Given the description of an element on the screen output the (x, y) to click on. 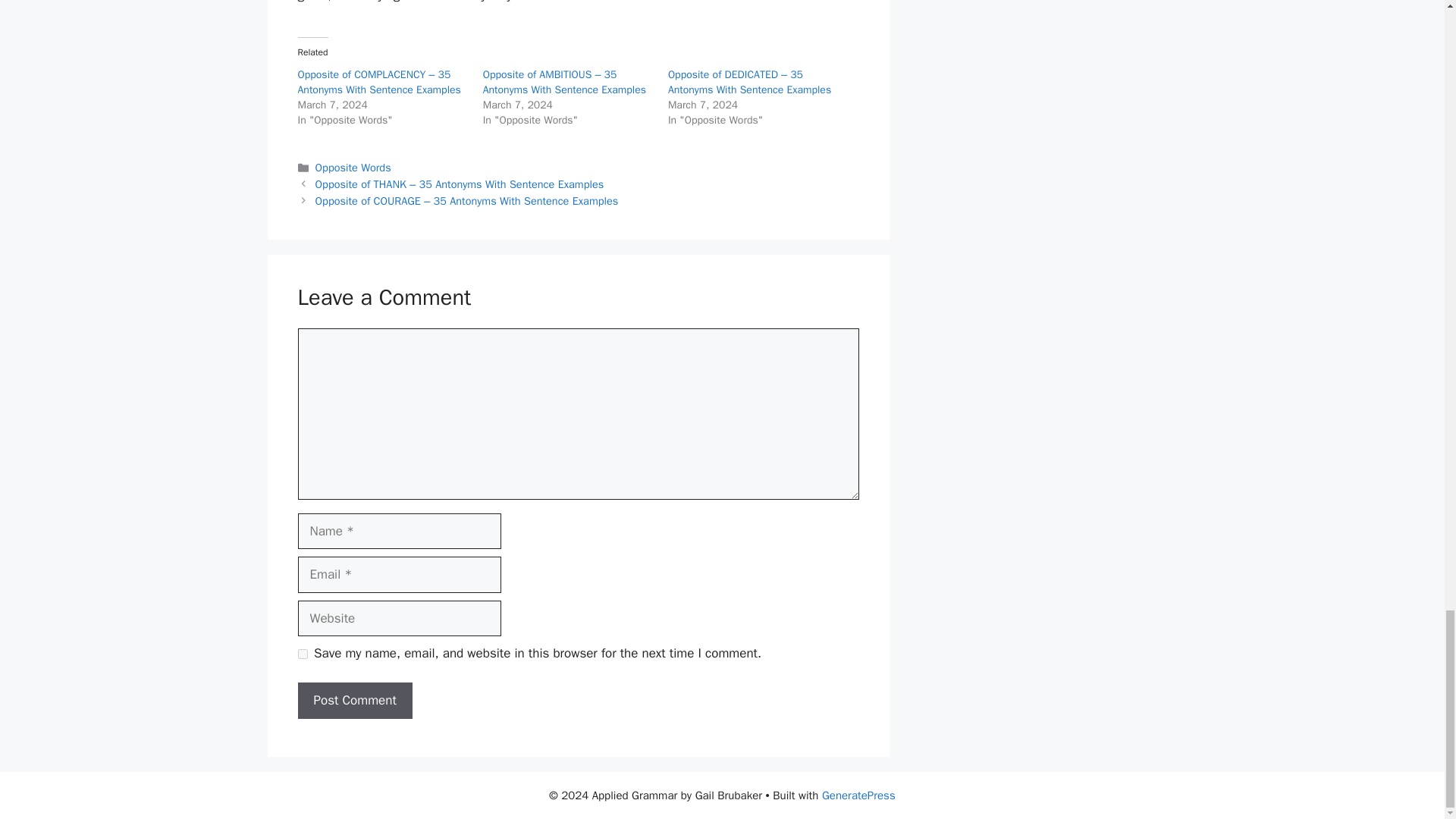
yes (302, 654)
Post Comment (354, 700)
Opposite Words (353, 167)
Post Comment (354, 700)
